Given the description of an element on the screen output the (x, y) to click on. 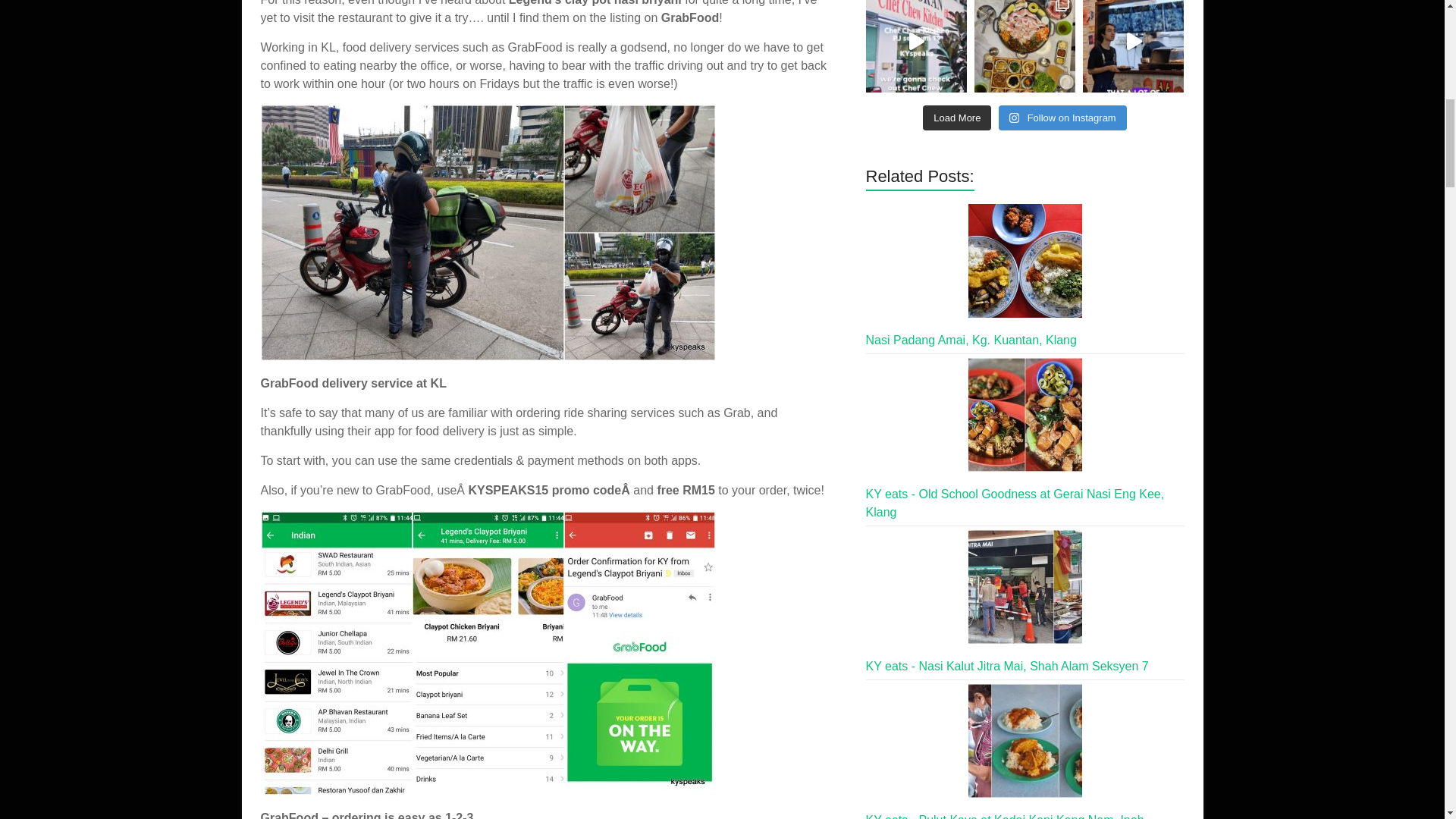
KY eats - Old School Goodness at Gerai Nasi Eng Kee, Klang (1024, 414)
Nasi Padang Amai, Kg. Kuantan, Klang (1024, 260)
KY eats - Nasi Kalut Jitra Mai, Shah Alam Seksyen 7 (1024, 586)
KY eats - Pulut Kaya at Kedai Kopi Keng Nam, Ipoh (1024, 740)
